Given the description of an element on the screen output the (x, y) to click on. 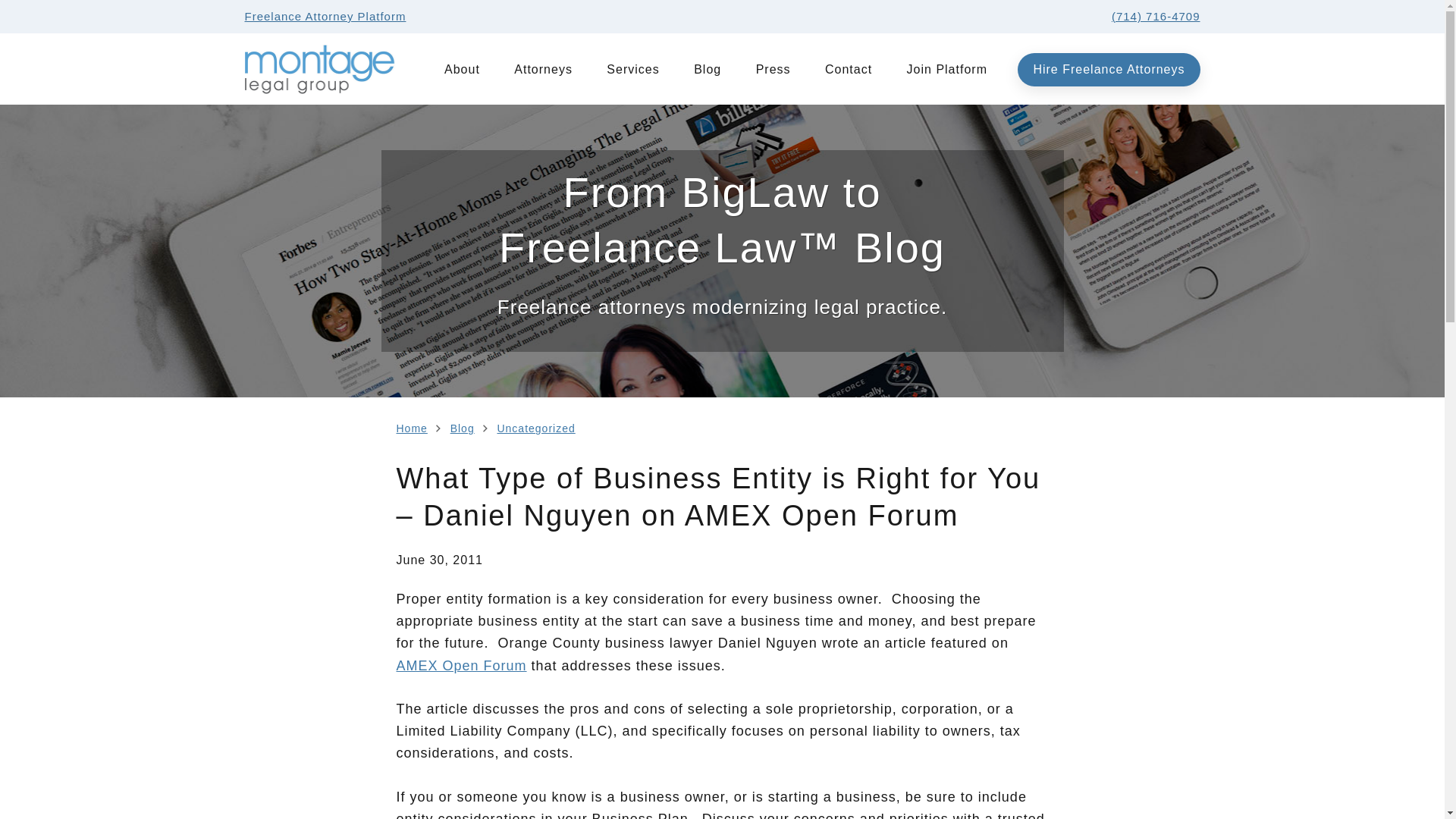
About (469, 69)
Uncategorized (535, 428)
Blog (461, 428)
Join Platform (947, 69)
AMEX Open Forum (460, 665)
Blog (707, 69)
Hire Freelance Attorneys (1108, 69)
Attorneys (543, 69)
Services (632, 69)
